Given the description of an element on the screen output the (x, y) to click on. 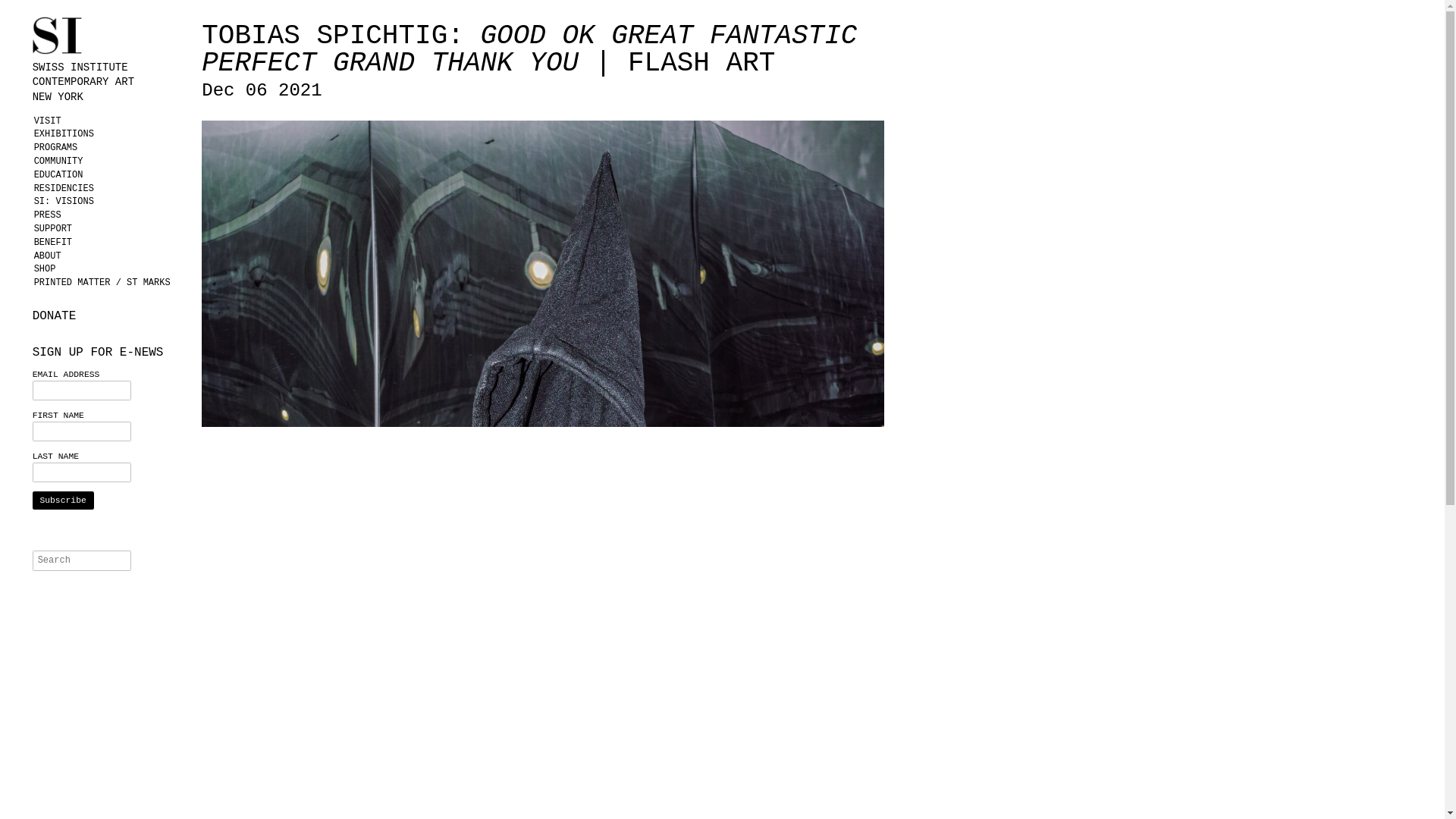
PRESS (108, 215)
PROGRAMS (108, 147)
ABOUT (108, 256)
SI: VISIONS (108, 201)
Subscribe (63, 500)
BENEFIT (108, 242)
VISIT (108, 121)
SHOP (108, 268)
RESIDENCIES (108, 188)
